Given the description of an element on the screen output the (x, y) to click on. 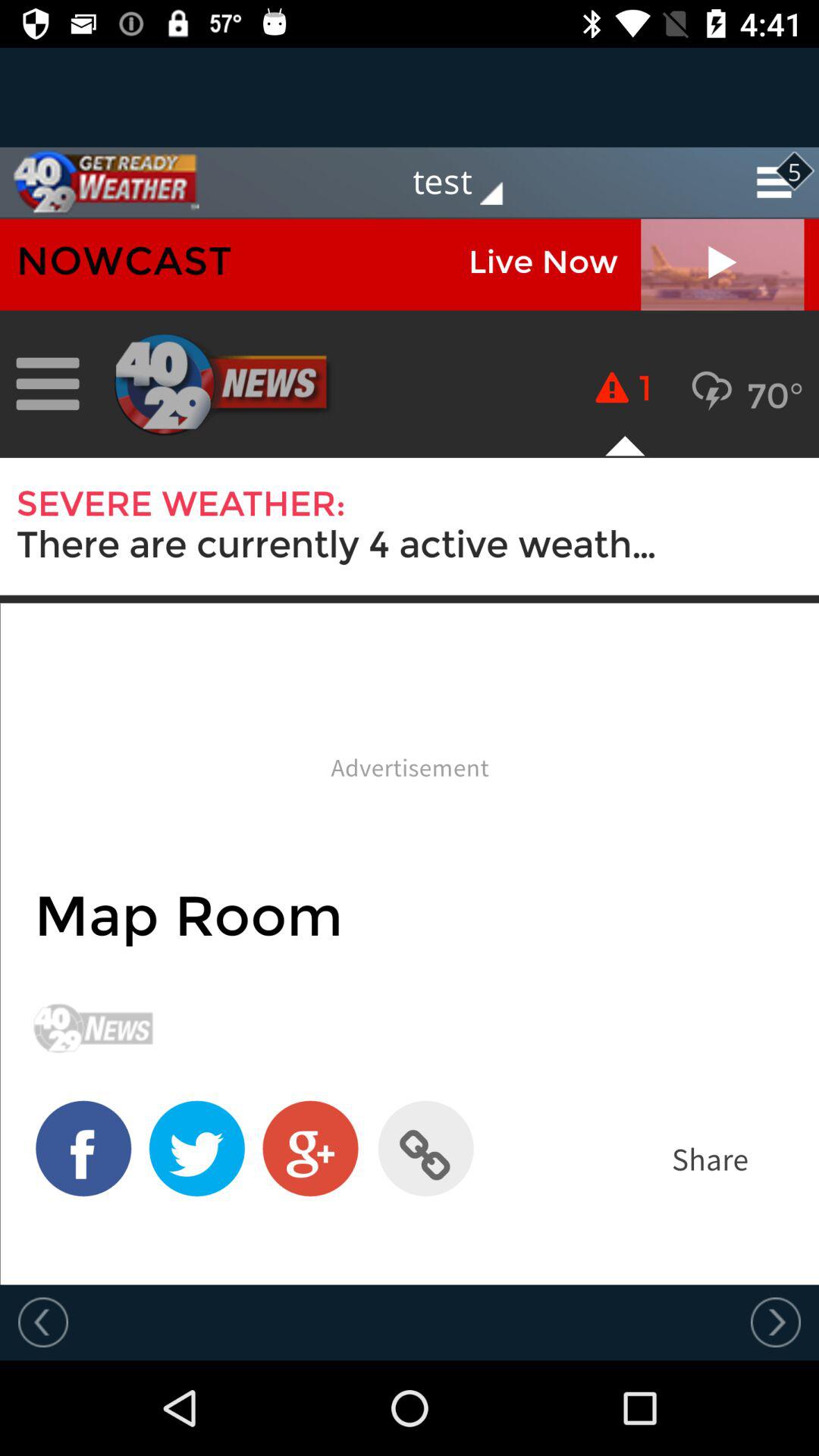
go to weather (99, 182)
